Given the description of an element on the screen output the (x, y) to click on. 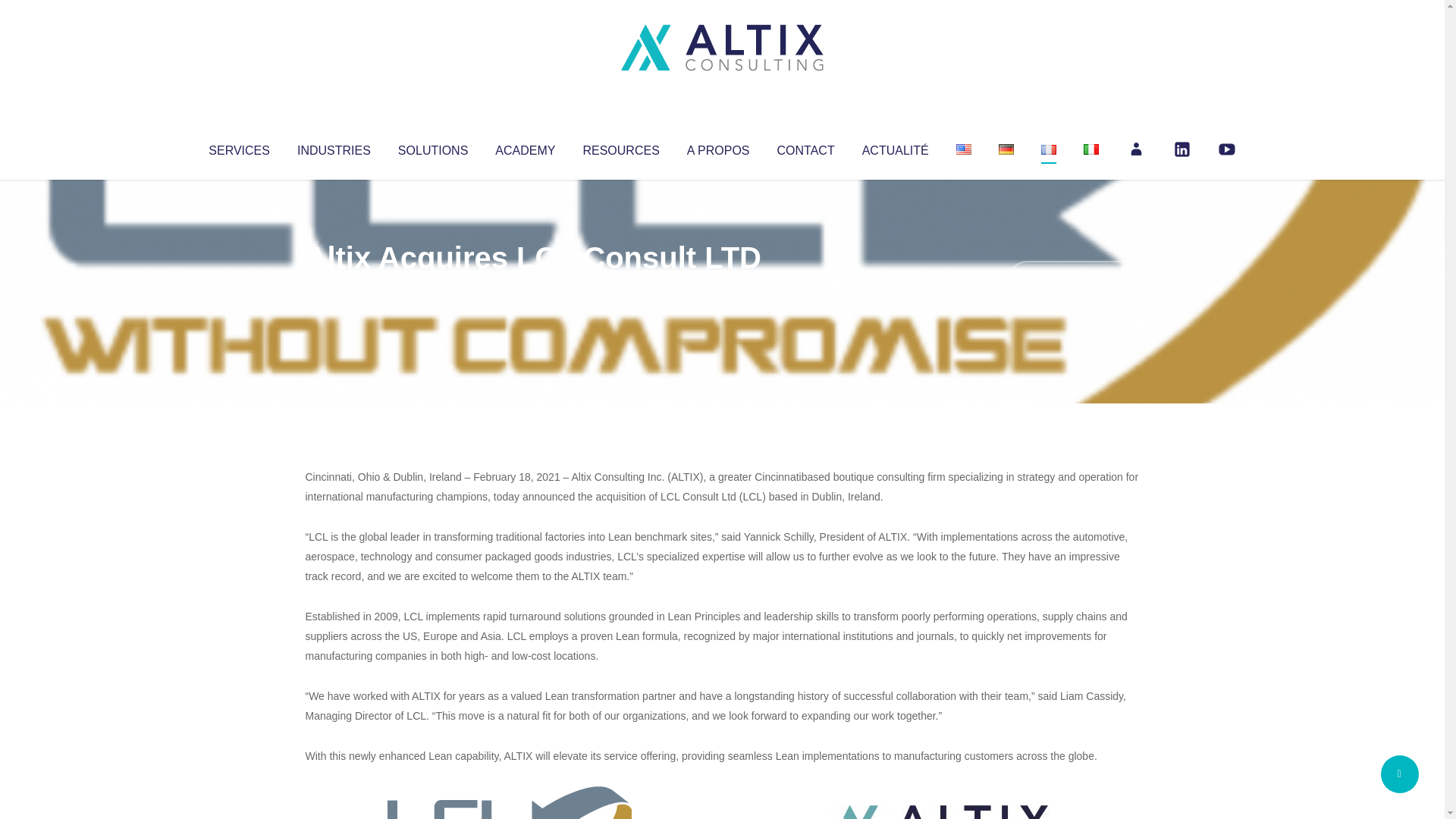
Uncategorized (530, 287)
No Comments (1073, 278)
INDUSTRIES (334, 146)
A PROPOS (718, 146)
RESOURCES (620, 146)
Articles par Altix (333, 287)
SOLUTIONS (432, 146)
Altix (333, 287)
SERVICES (238, 146)
ACADEMY (524, 146)
